Given the description of an element on the screen output the (x, y) to click on. 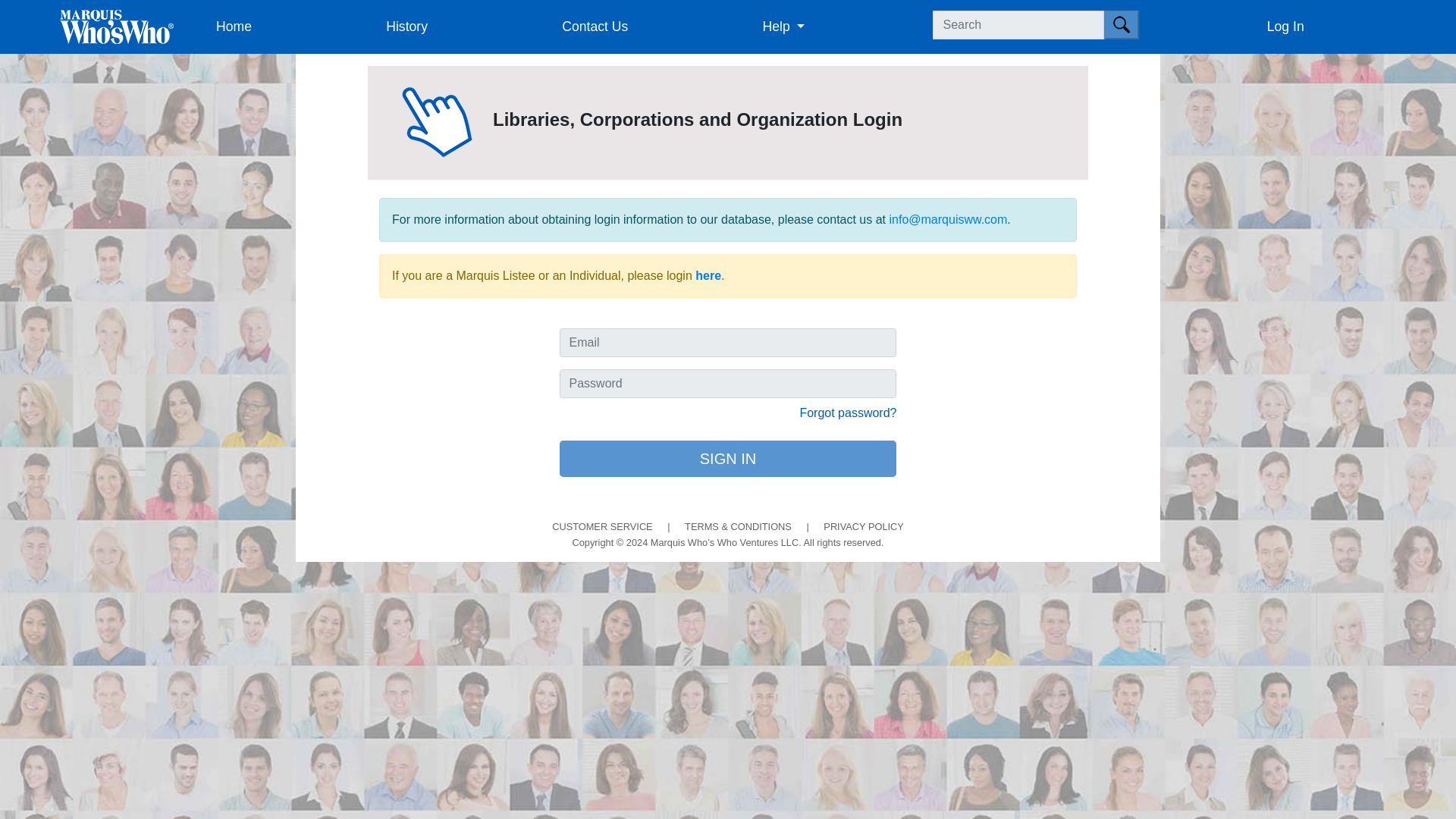
PRIVACY POLICY (864, 525)
Forgot password? (847, 412)
History (468, 26)
SIGN IN (727, 458)
Log In (1346, 26)
here (707, 275)
Email Address (727, 342)
Contact Us (655, 26)
Help (845, 26)
Password (727, 383)
